Given the description of an element on the screen output the (x, y) to click on. 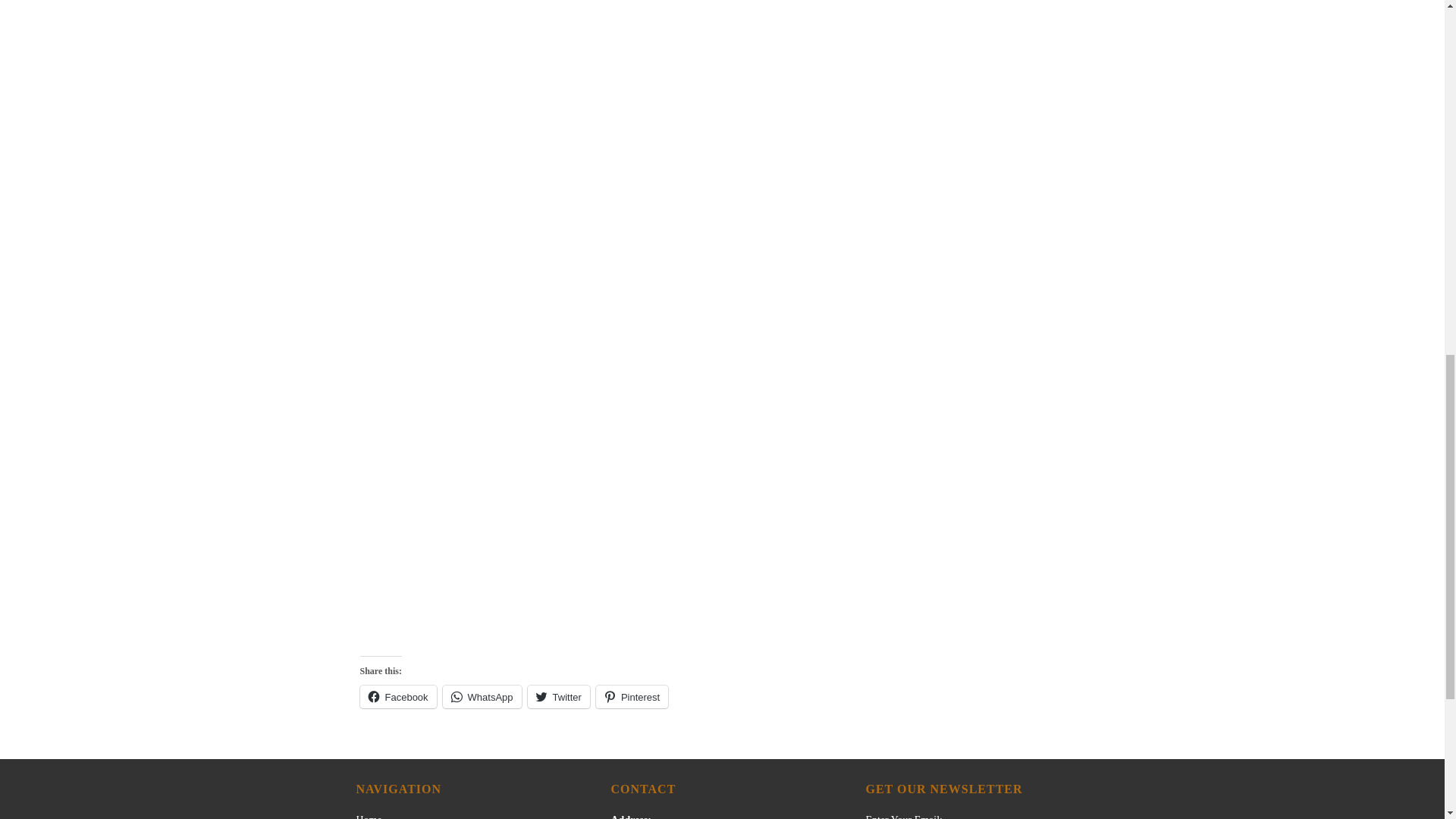
Twitter (558, 696)
WhatsApp (481, 696)
Home (368, 816)
Facebook (397, 696)
Pinterest (631, 696)
